Given the description of an element on the screen output the (x, y) to click on. 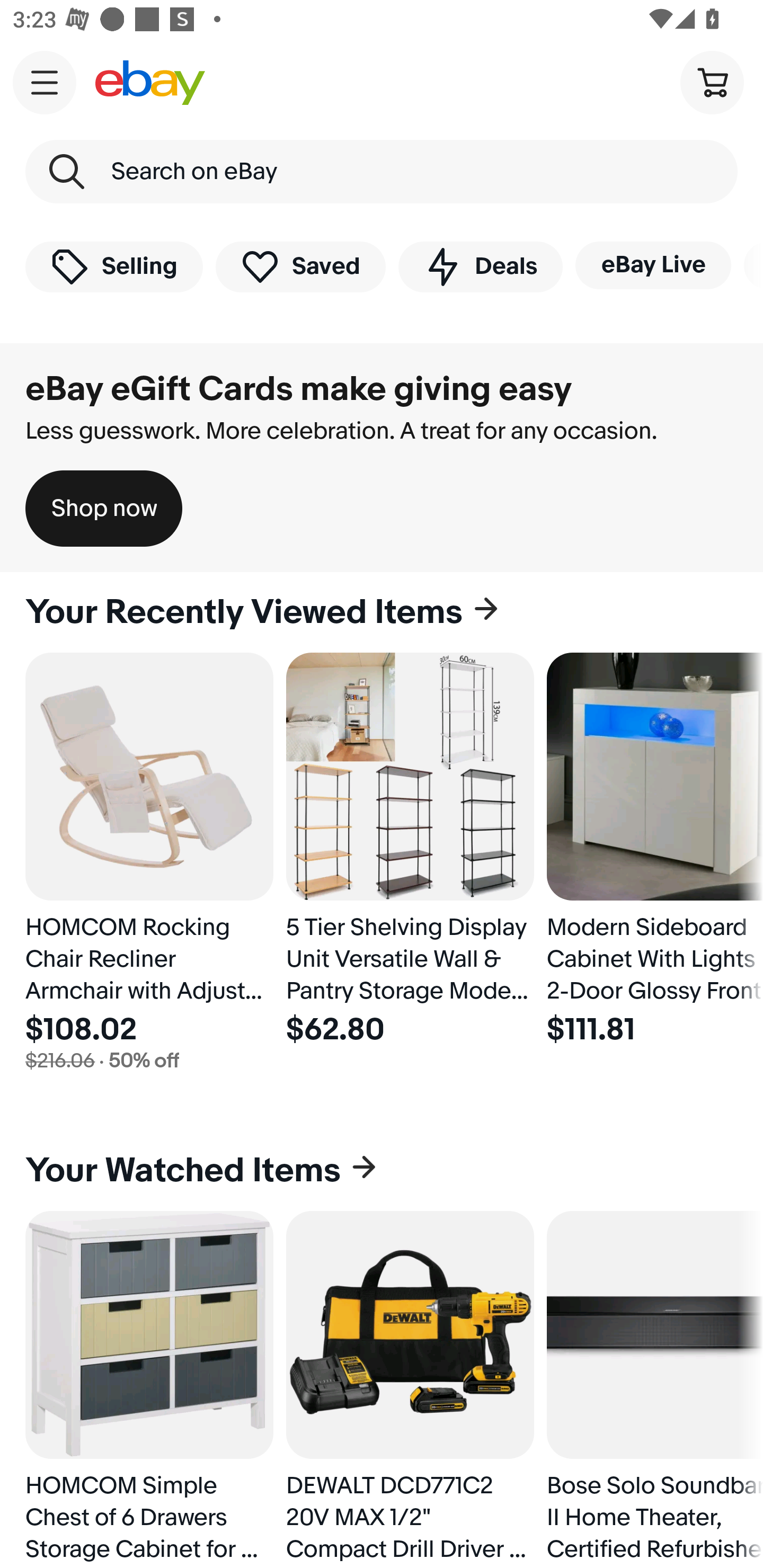
Main navigation, open (44, 82)
Cart button shopping cart (711, 81)
Search on eBay Search Keyword Search on eBay (381, 171)
Selling (113, 266)
Saved (300, 266)
Deals (480, 266)
eBay Live (652, 264)
eBay eGift Cards make giving easy (298, 389)
Shop now (103, 508)
Your Recently Viewed Items   (381, 612)
Your Watched Items   (381, 1170)
